Given the description of an element on the screen output the (x, y) to click on. 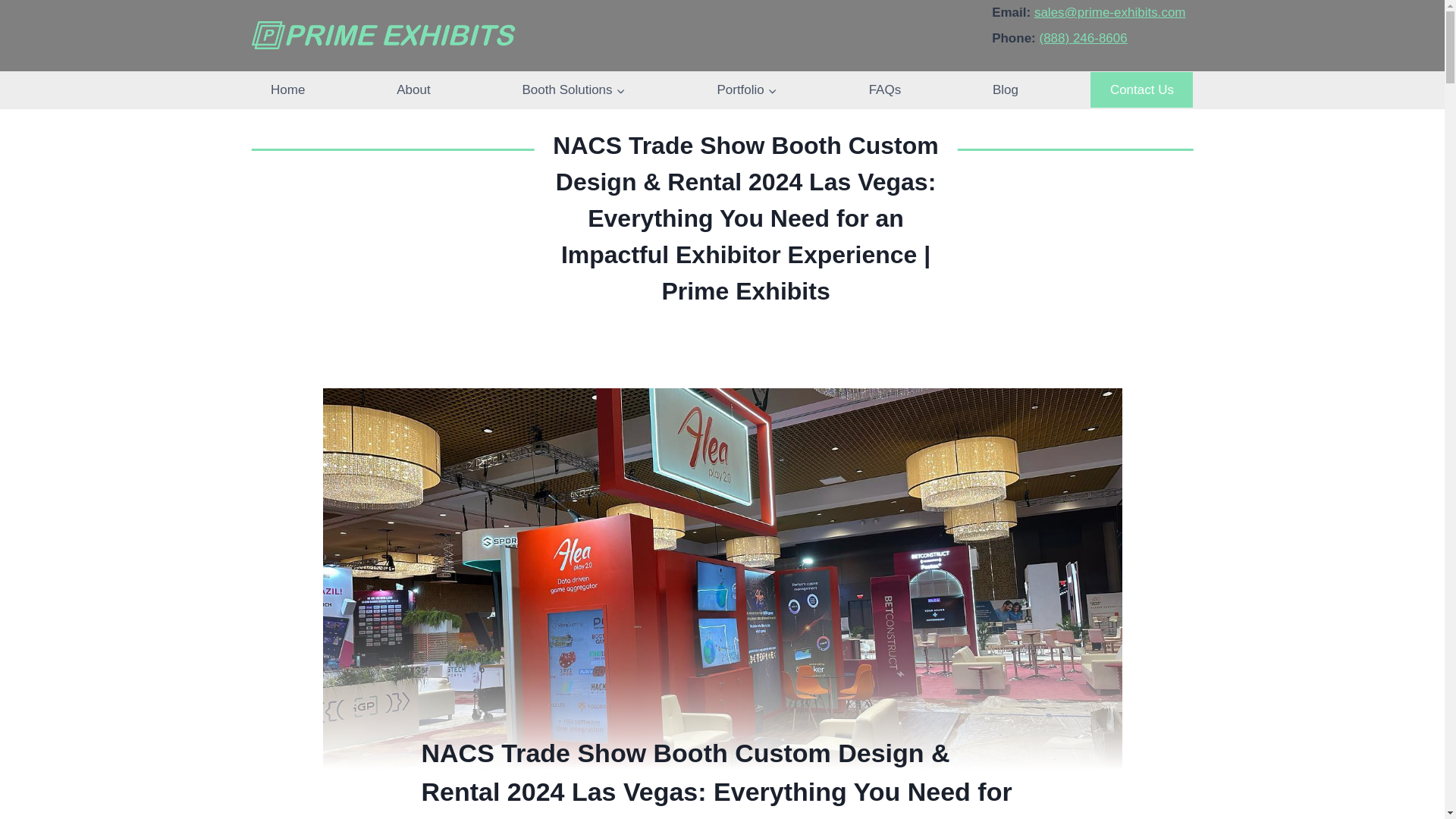
Booth Solutions (573, 90)
Portfolio (746, 90)
FAQs (884, 90)
About (413, 90)
Contact Us (1141, 90)
Blog (1006, 90)
Home (287, 90)
